Given the description of an element on the screen output the (x, y) to click on. 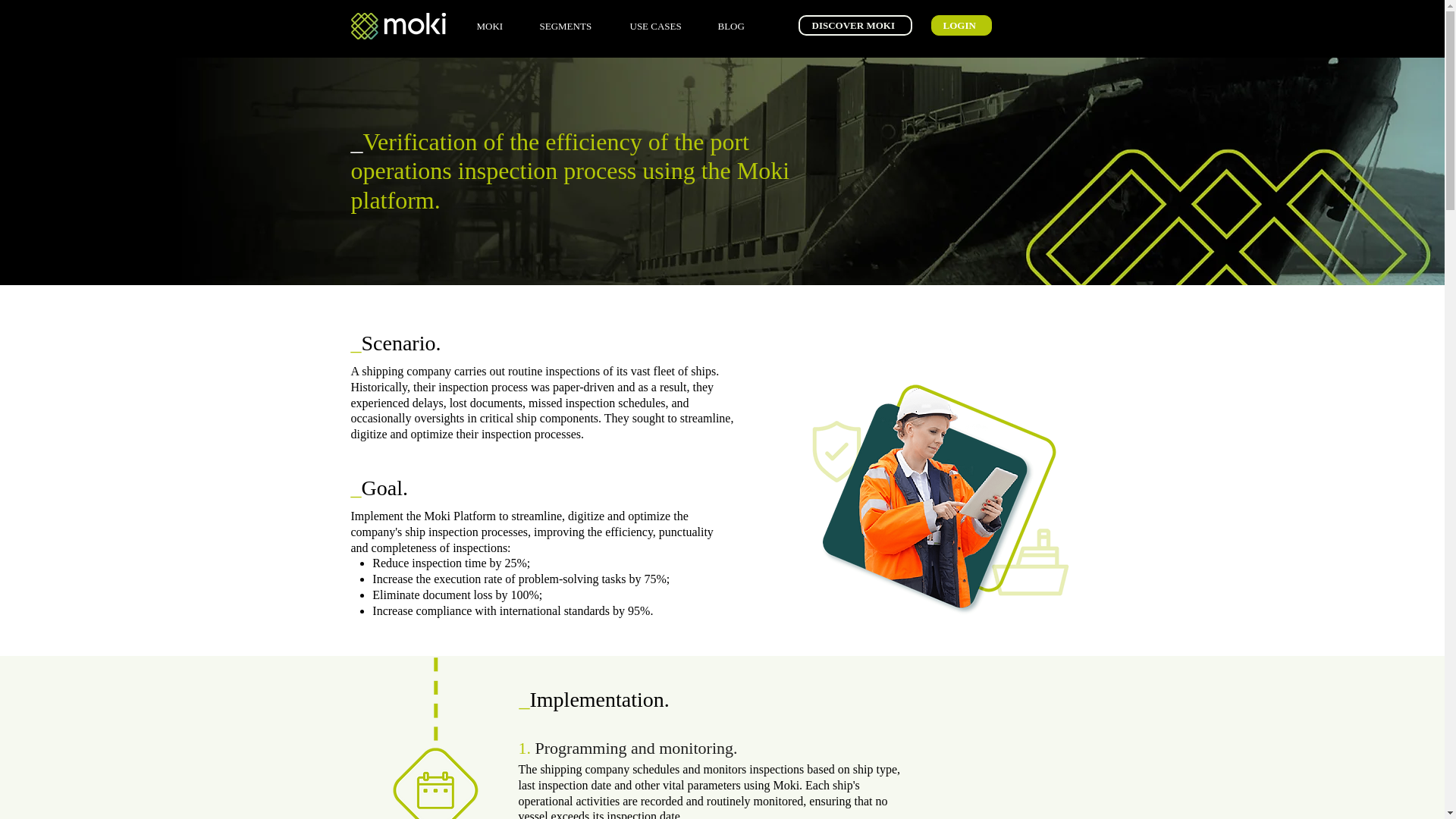
BLOG (737, 26)
DISCOVER MOKI (854, 25)
LOGIN (961, 25)
